Given the description of an element on the screen output the (x, y) to click on. 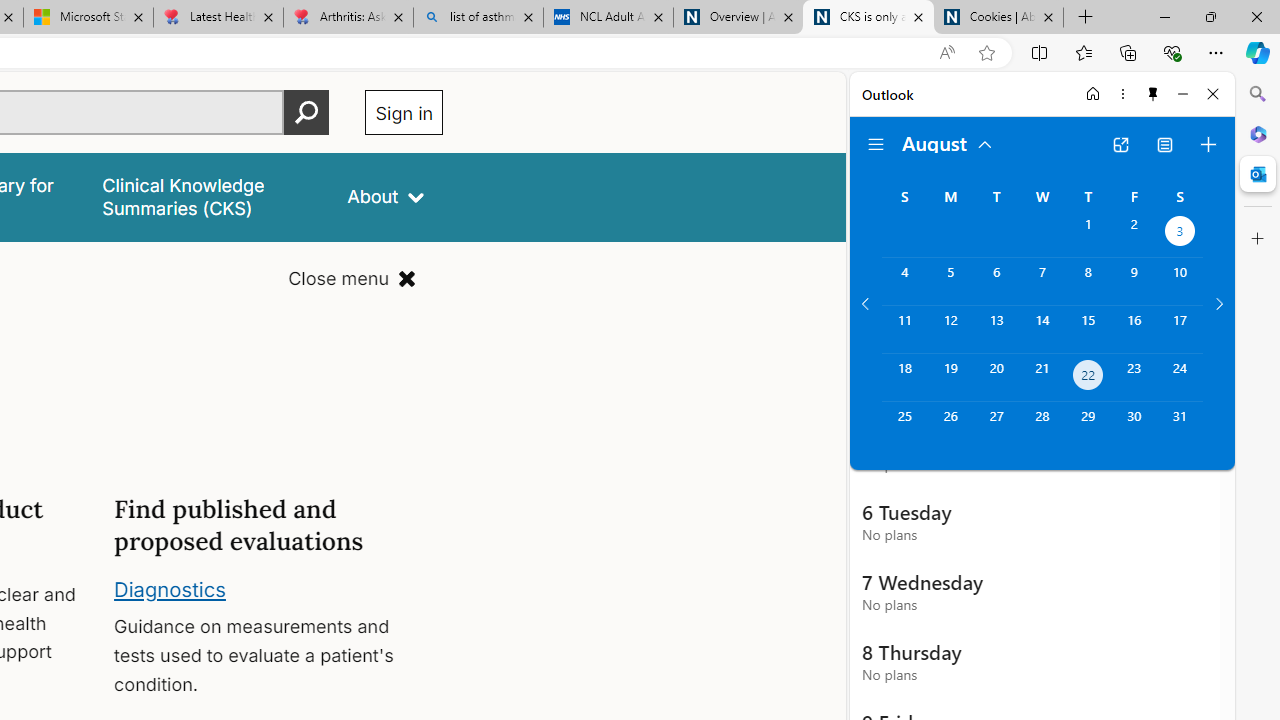
Friday, August 2, 2024.  (1134, 233)
Wednesday, August 7, 2024.  (1042, 281)
Unpin side pane (1153, 93)
Open in new tab (1120, 144)
NCL Adult Asthma Inhaler Choice Guideline (608, 17)
Wednesday, August 21, 2024.  (1042, 377)
Arthritis: Ask Health Professionals (348, 17)
